Given the description of an element on the screen output the (x, y) to click on. 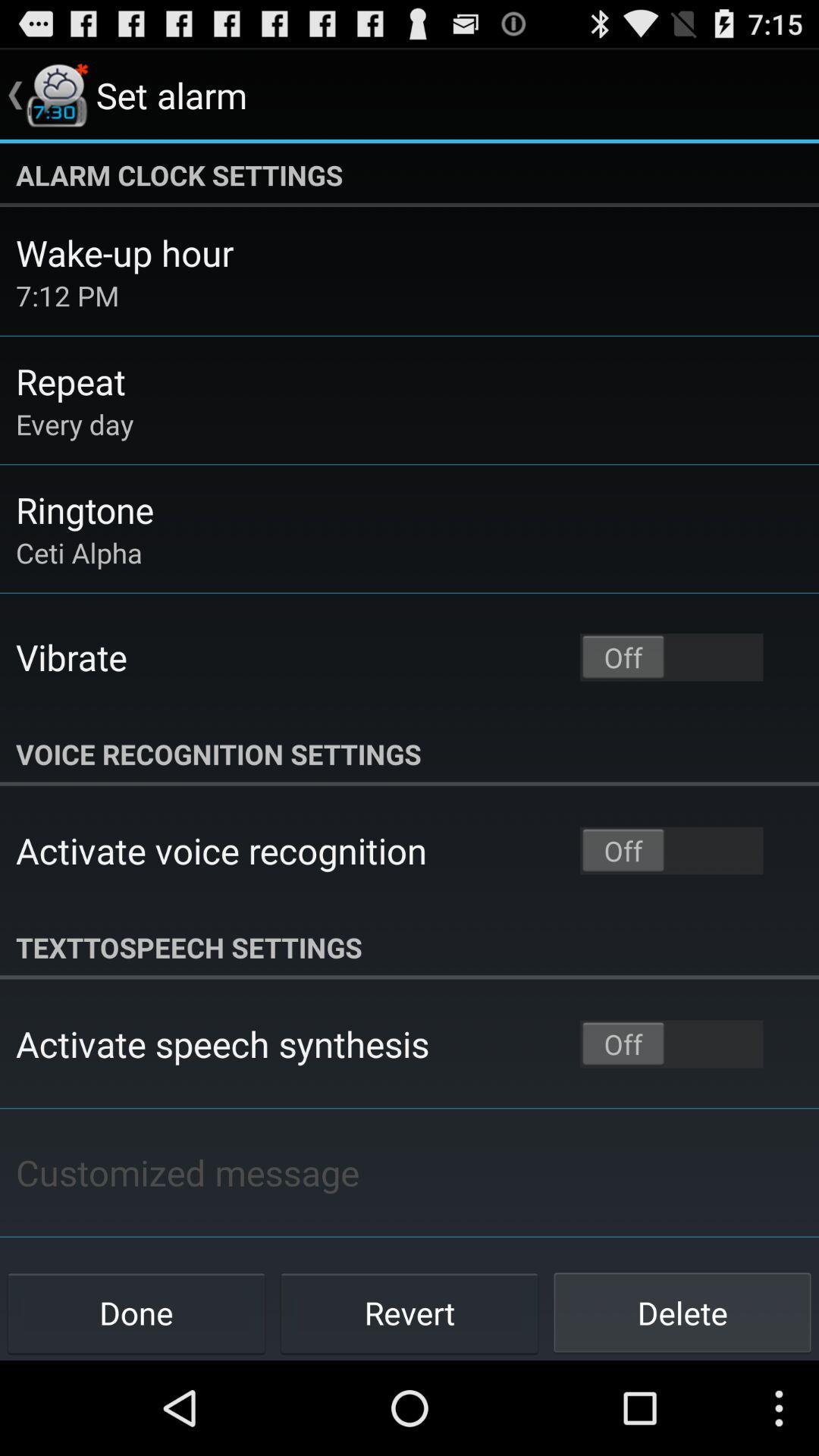
press the app below the activate speech synthesis (187, 1172)
